Given the description of an element on the screen output the (x, y) to click on. 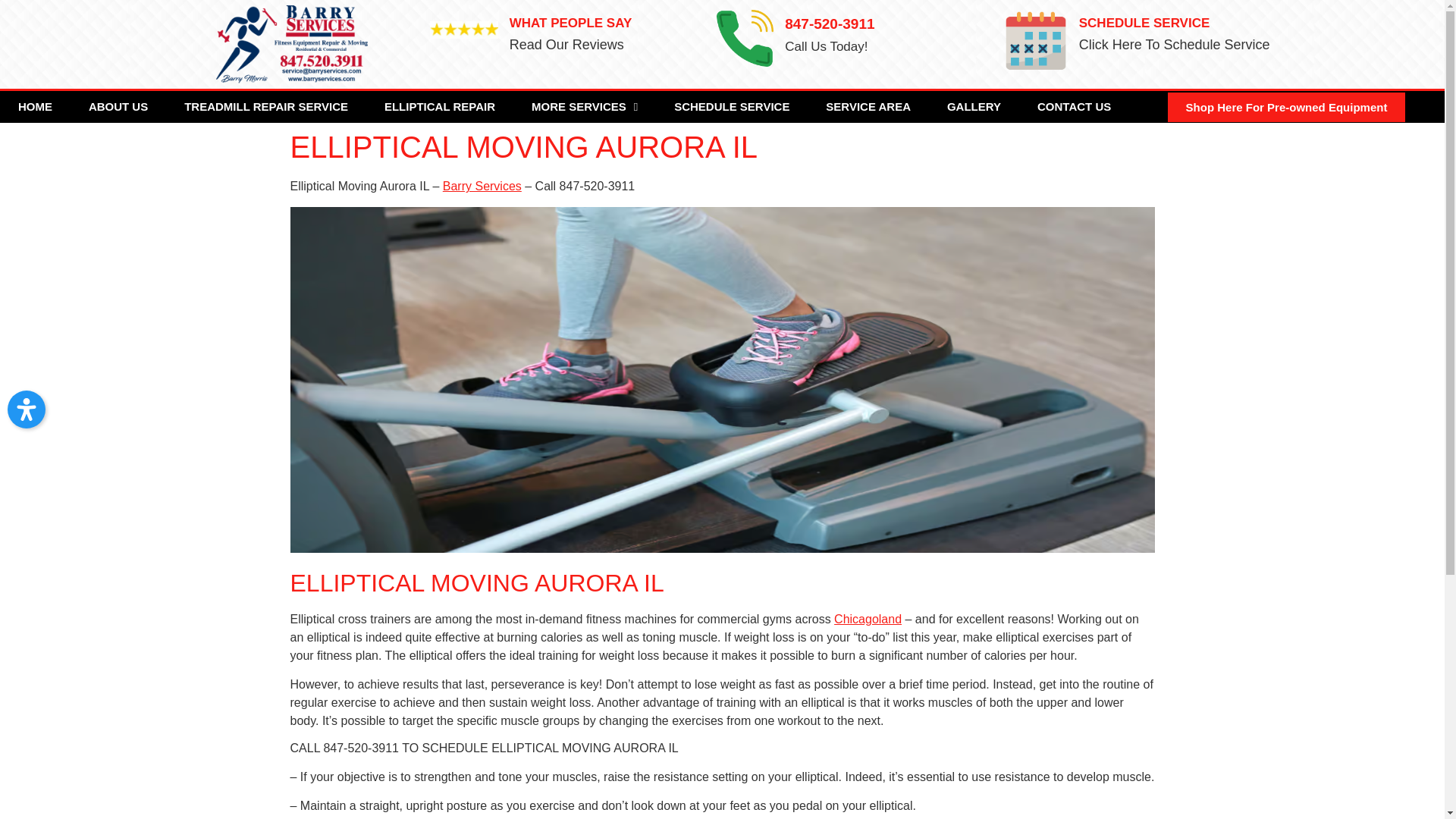
Barry Services (481, 185)
SCHEDULE SERVICE (732, 106)
ABOUT US (117, 106)
TREADMILL REPAIR SERVICE (265, 106)
HOME (34, 106)
SERVICE AREA (868, 106)
WHAT PEOPLE SAY (570, 22)
MORE SERVICES (584, 106)
Shop Here For Pre-owned Equipment (1286, 107)
SCHEDULE SERVICE (1143, 22)
847-520-3911 (829, 23)
Chicagoland (867, 618)
CONTACT US (1074, 106)
GALLERY (973, 106)
ELLIPTICAL REPAIR (439, 106)
